Given the description of an element on the screen output the (x, y) to click on. 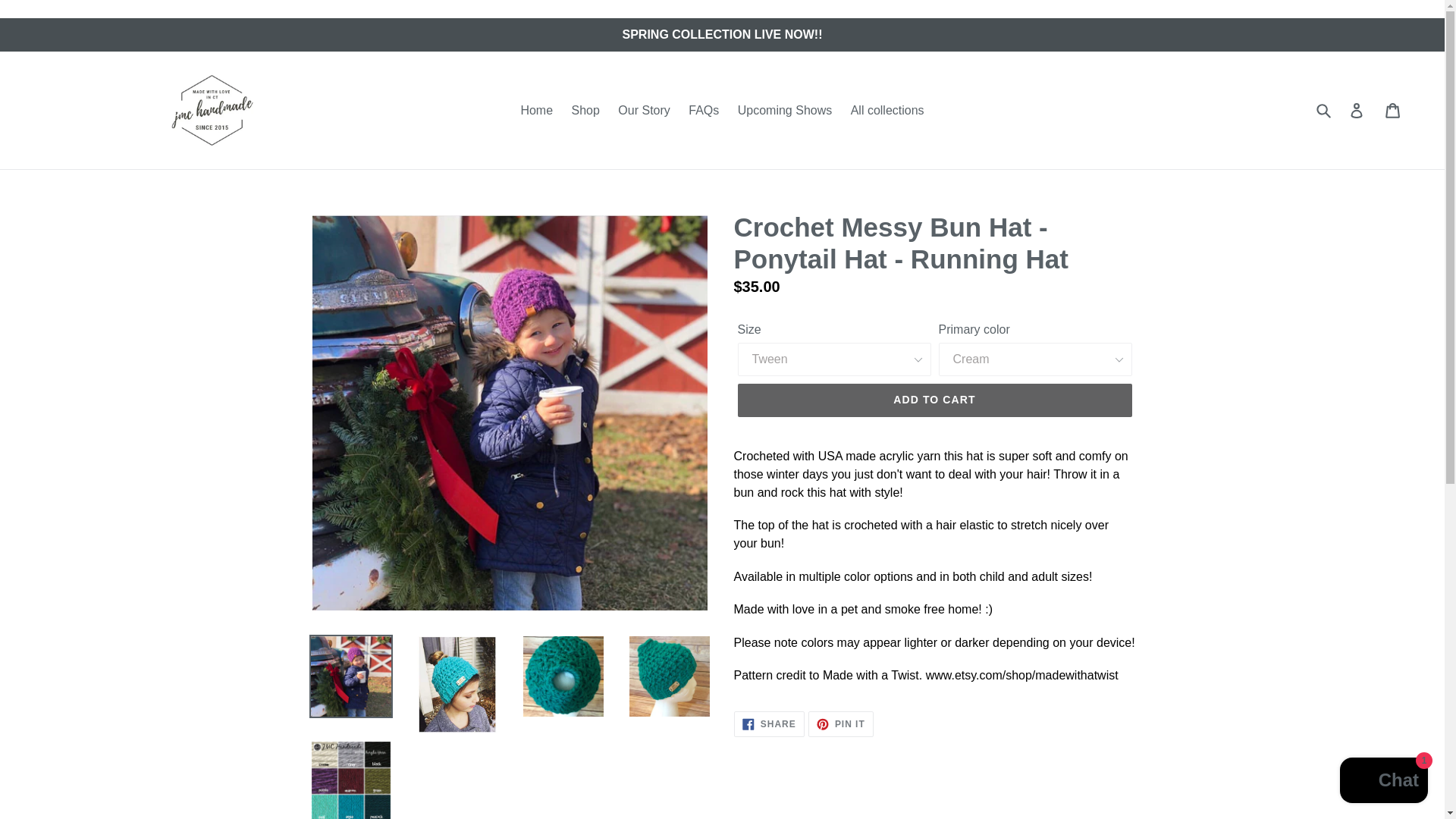
All collections (769, 724)
Home (887, 109)
Submit (536, 109)
Our Story (1324, 110)
Shop (643, 109)
FAQs (585, 109)
Shopify online store chat (703, 109)
Log in (1383, 781)
Cart (1356, 110)
Upcoming Shows (1393, 110)
ADD TO CART (785, 109)
